Given the description of an element on the screen output the (x, y) to click on. 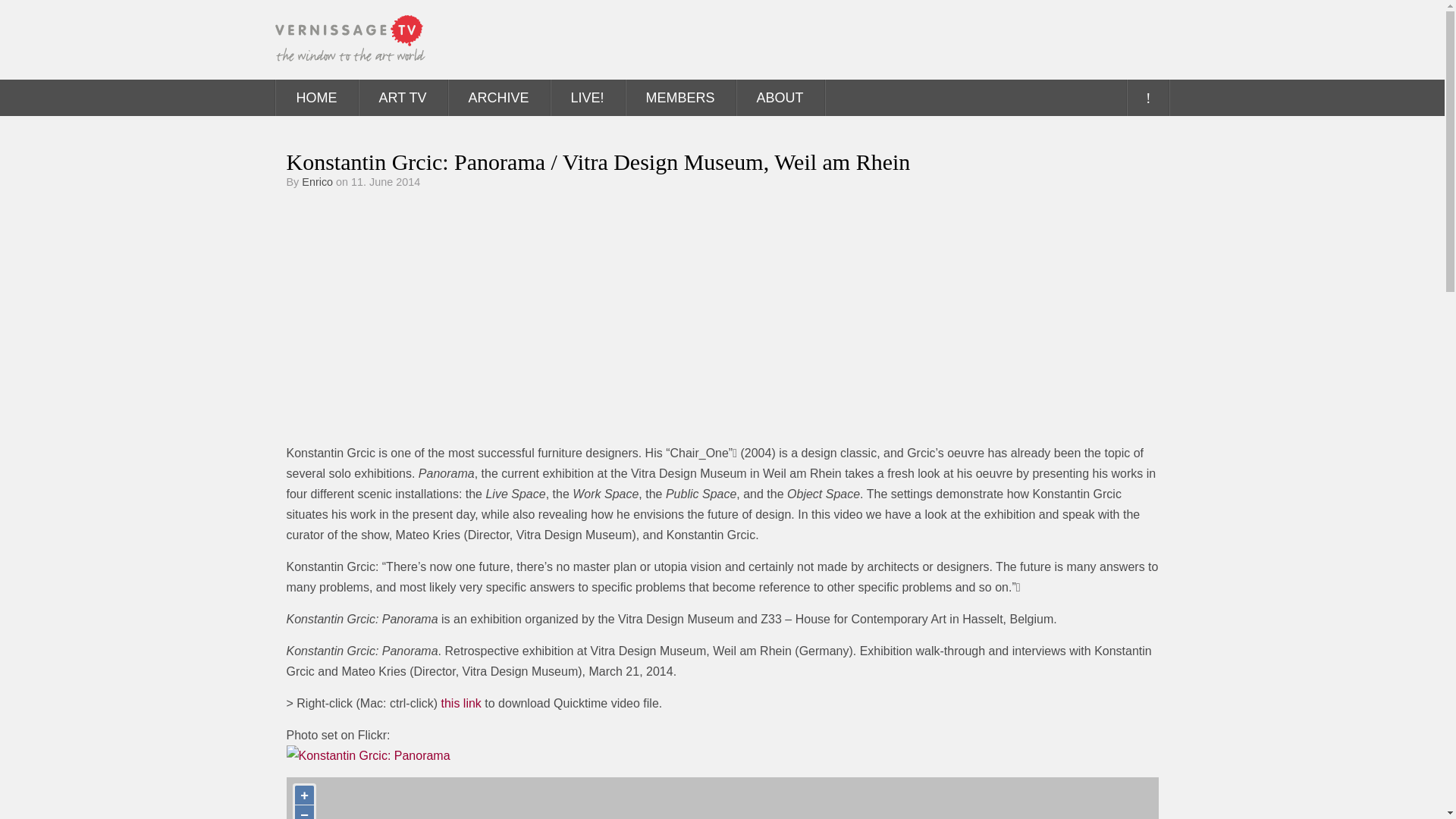
SEARCH (1146, 97)
Enrico (317, 182)
ART TV (402, 97)
HOME (317, 97)
ABOUT (780, 97)
ARCHIVE (499, 97)
LIVE! (587, 97)
